Given the description of an element on the screen output the (x, y) to click on. 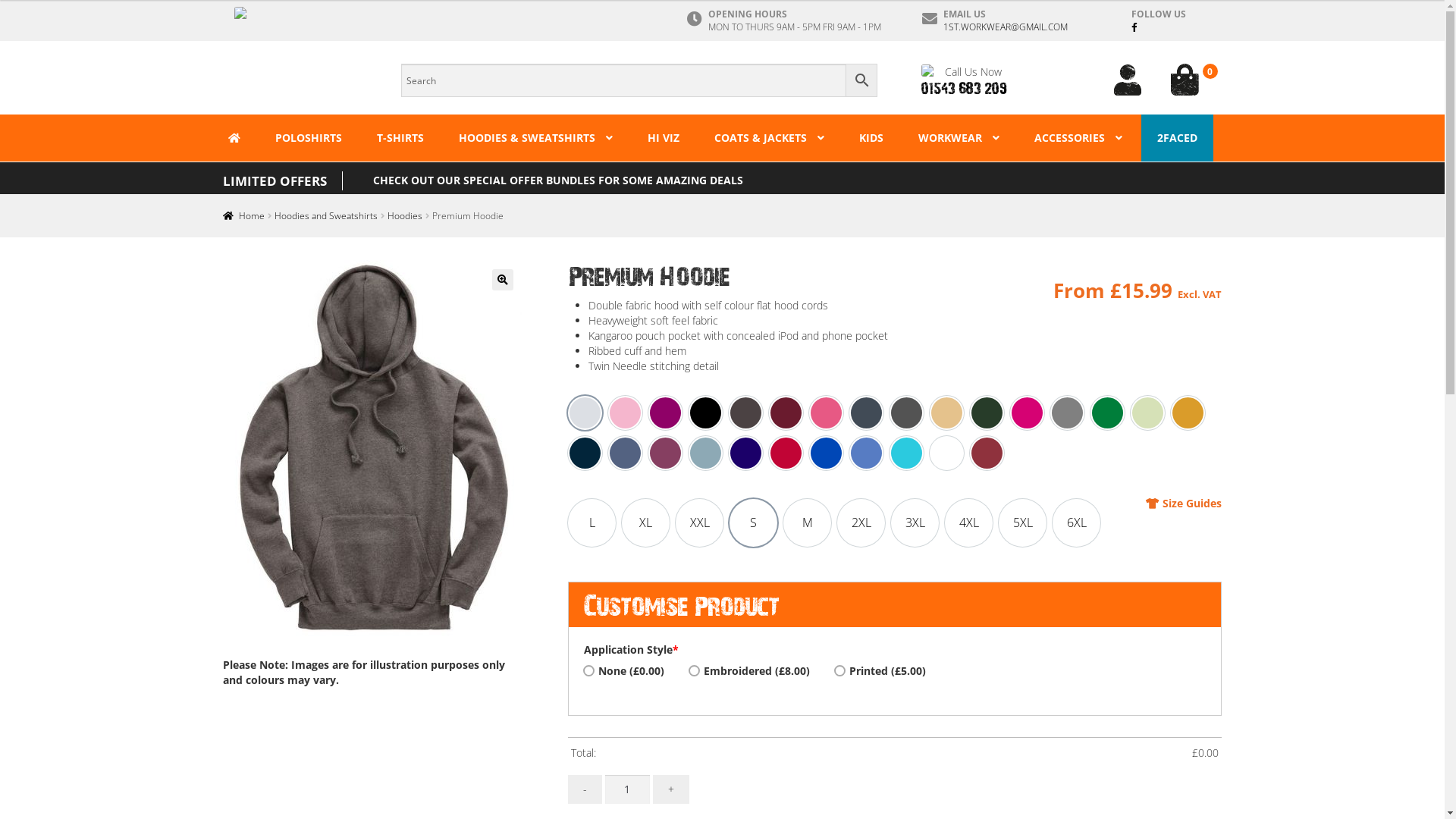
Burgundy Element type: hover (785, 412)
Lime Element type: hover (1147, 412)
Qty Element type: hover (627, 789)
1ST.WORKWEAR@GMAIL.COM Element type: text (1005, 26)
Wine Melange Element type: hover (986, 453)
Forest Green Element type: hover (986, 412)
HOODIES & SWEATSHIRTS Element type: text (535, 137)
Cool Grey Element type: hover (906, 412)
Grey Element type: hover (1067, 412)
2FACED Element type: text (1177, 137)
Powder Blue Element type: hover (705, 453)
Home Element type: text (243, 215)
T-SHIRTS Element type: text (399, 137)
KIDS Element type: text (871, 137)
Corn Element type: hover (946, 412)
Size Guides Element type: text (1183, 503)
HI VIZ Element type: text (663, 137)
Purple Element type: hover (745, 453)
Turquoise Blue Element type: hover (906, 453)
POLOSHIRTS Element type: text (308, 137)
Black Element type: hover (705, 412)
Kelly Green Element type: hover (1107, 412)
Berry Element type: hover (665, 412)
Navy Malange Element type: hover (625, 453)
WORKWEAR Element type: text (958, 137)
Baby Pink Element type: hover (625, 412)
0 Element type: text (1190, 79)
Mustard Element type: hover (1187, 412)
Plum Element type: hover (665, 453)
Ash Element type: hover (584, 412)
White Element type: hover (946, 453)
ACCESSORIES Element type: text (1078, 137)
Royal Malange Element type: hover (866, 453)
01543 683 209 Element type: text (964, 87)
+ Element type: text (670, 789)
Hoodies and Sweatshirts Element type: text (325, 215)
Charcoal Element type: hover (866, 412)
- Element type: text (584, 789)
COATS & JACKETS Element type: text (769, 137)
Hoodies Element type: text (404, 215)
CHECK OUT OUR SPECIAL OFFER BUNDLES FOR SOME AMAZING DEALS Element type: text (558, 179)
Royal Blue Element type: hover (826, 453)
Fuchsia Element type: hover (1027, 412)
Candy Element type: hover (826, 412)
Black Melange Element type: hover (745, 412)
Red Element type: hover (785, 453)
W72 Element type: hover (372, 451)
Navy Element type: hover (584, 453)
